Given the description of an element on the screen output the (x, y) to click on. 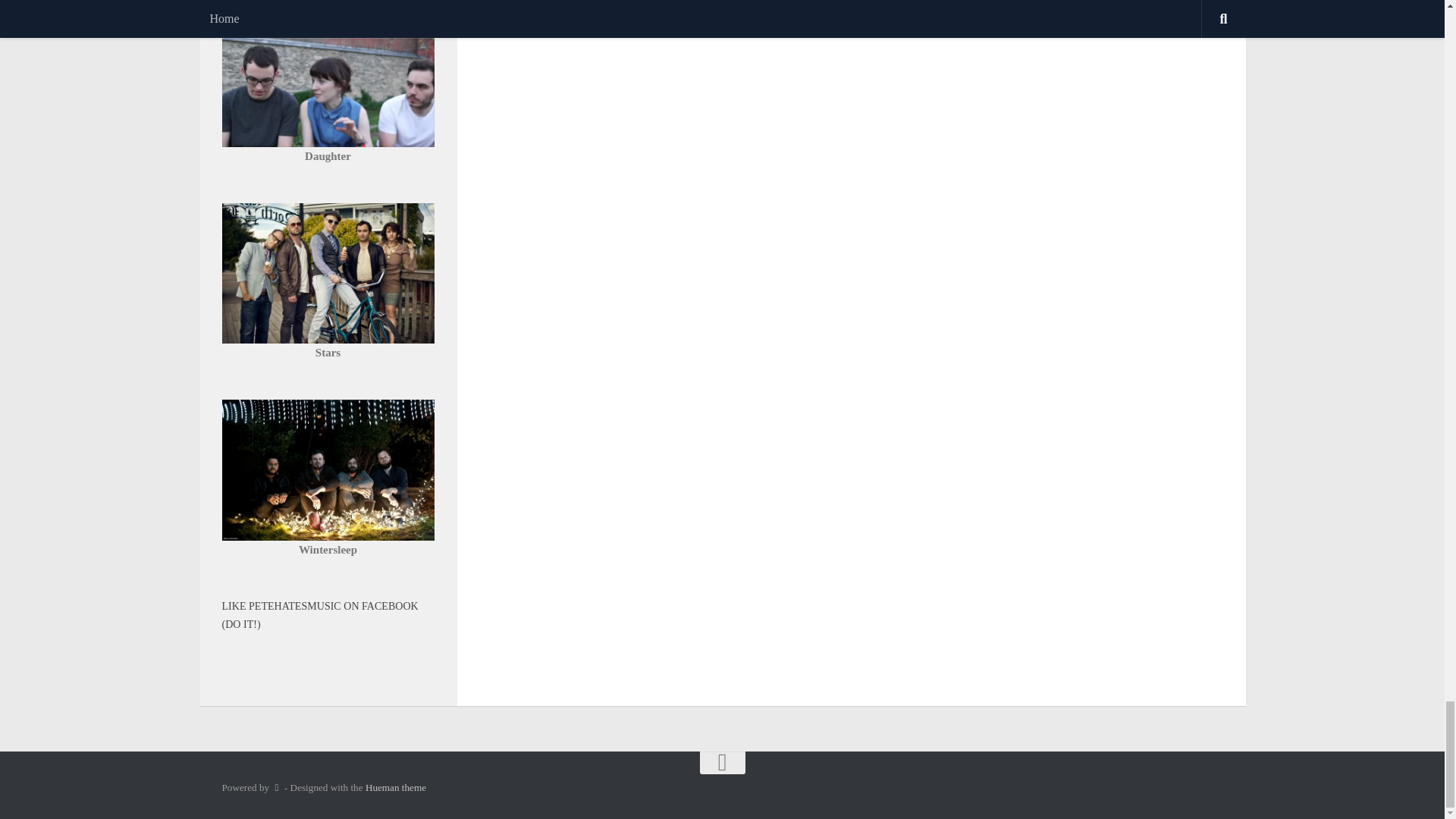
Powered by WordPress (275, 787)
Hueman theme (395, 787)
